Given the description of an element on the screen output the (x, y) to click on. 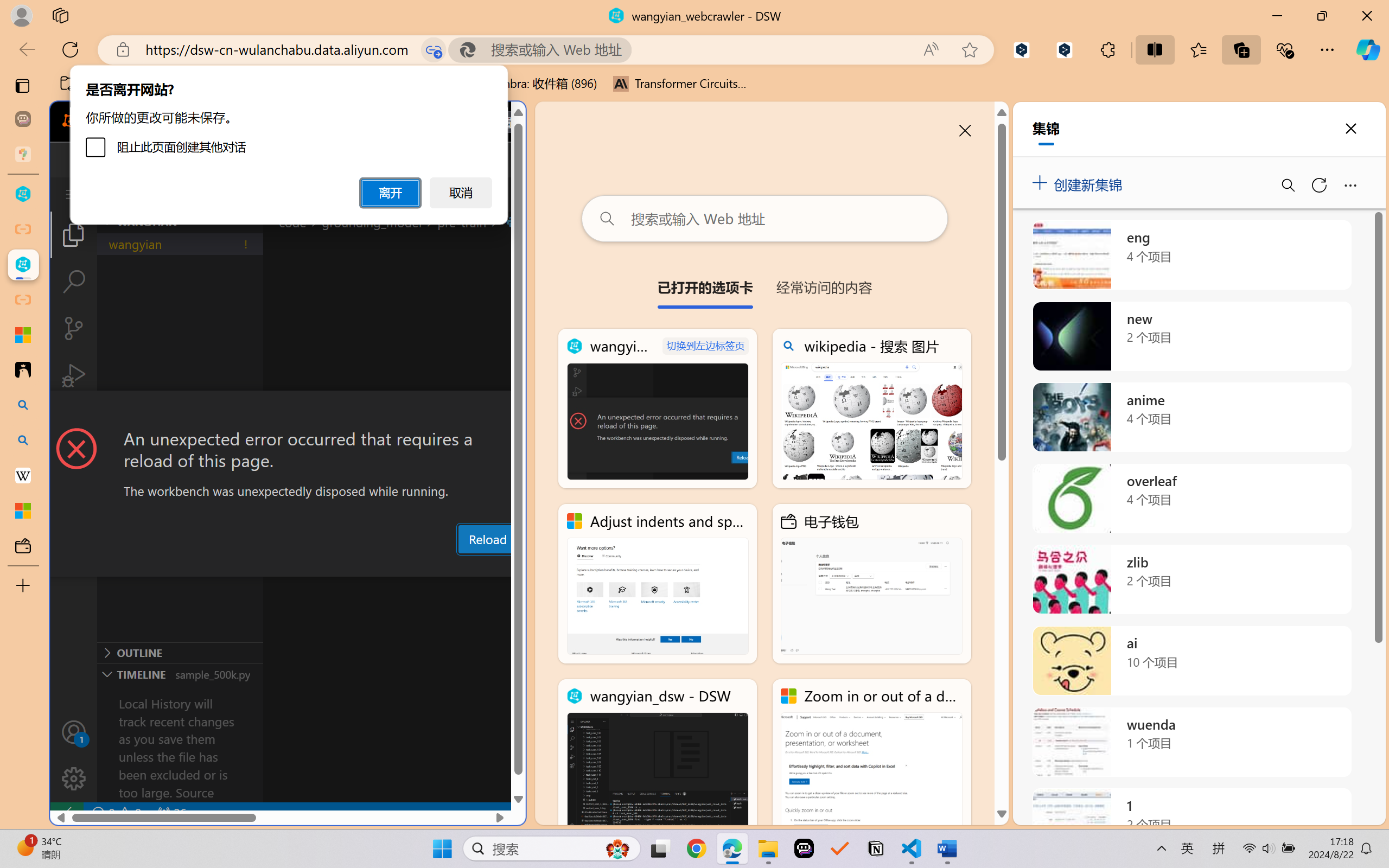
Terminal (Ctrl+`) (553, 565)
Timeline Section (179, 673)
Google Chrome (696, 848)
Problems (Ctrl+Shift+M) (308, 565)
